Given the description of an element on the screen output the (x, y) to click on. 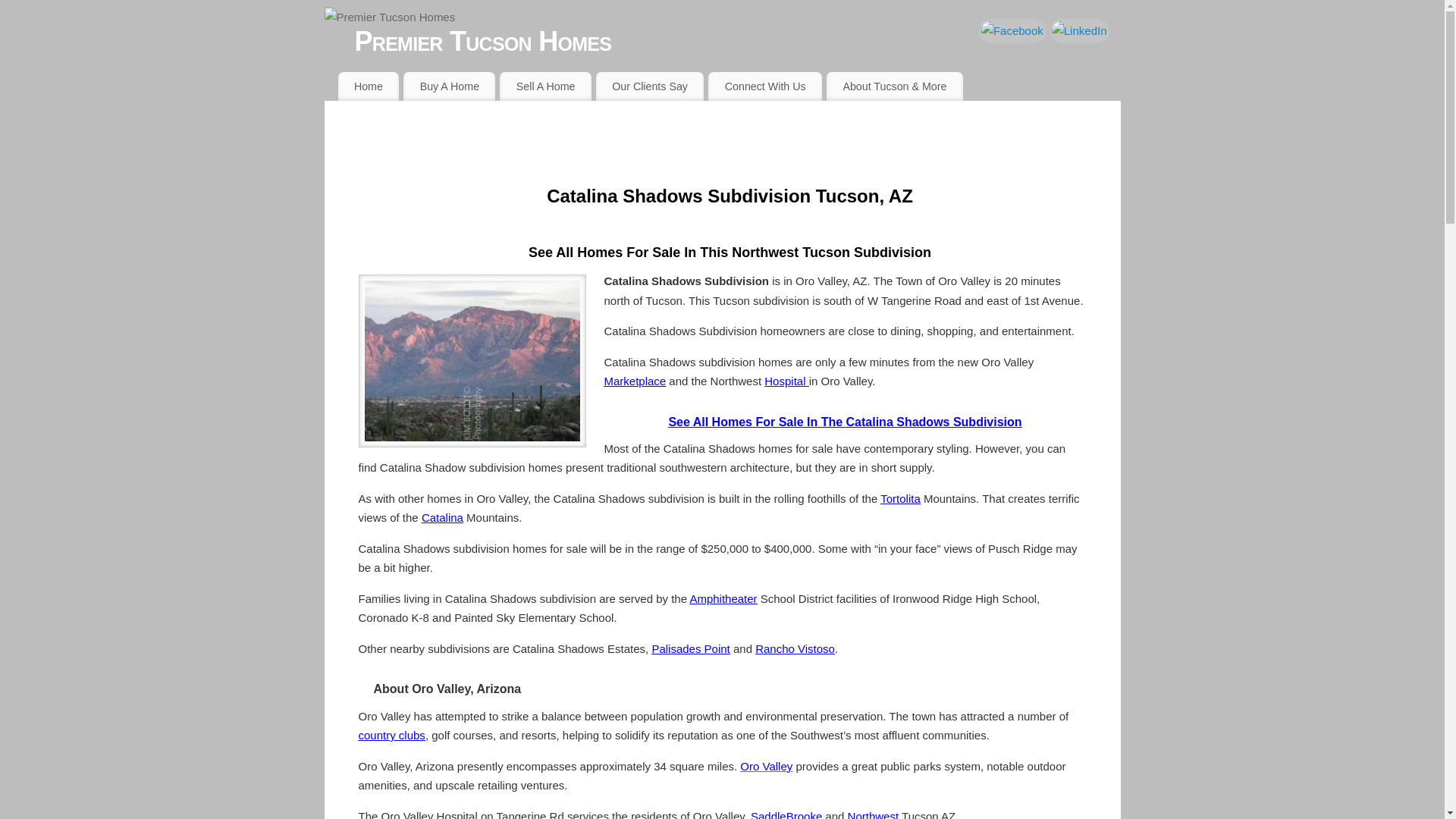
Premier Tucson Homes  (738, 41)
Buy A Home (449, 86)
Tucson AZ Information (894, 86)
Oro Valley (765, 766)
Connect With Us (764, 86)
Tucson Real Estate Home Page (367, 86)
Sell A Home (545, 86)
Hospital (786, 380)
Catalina (442, 517)
SaddleBrooke (786, 814)
